Given the description of an element on the screen output the (x, y) to click on. 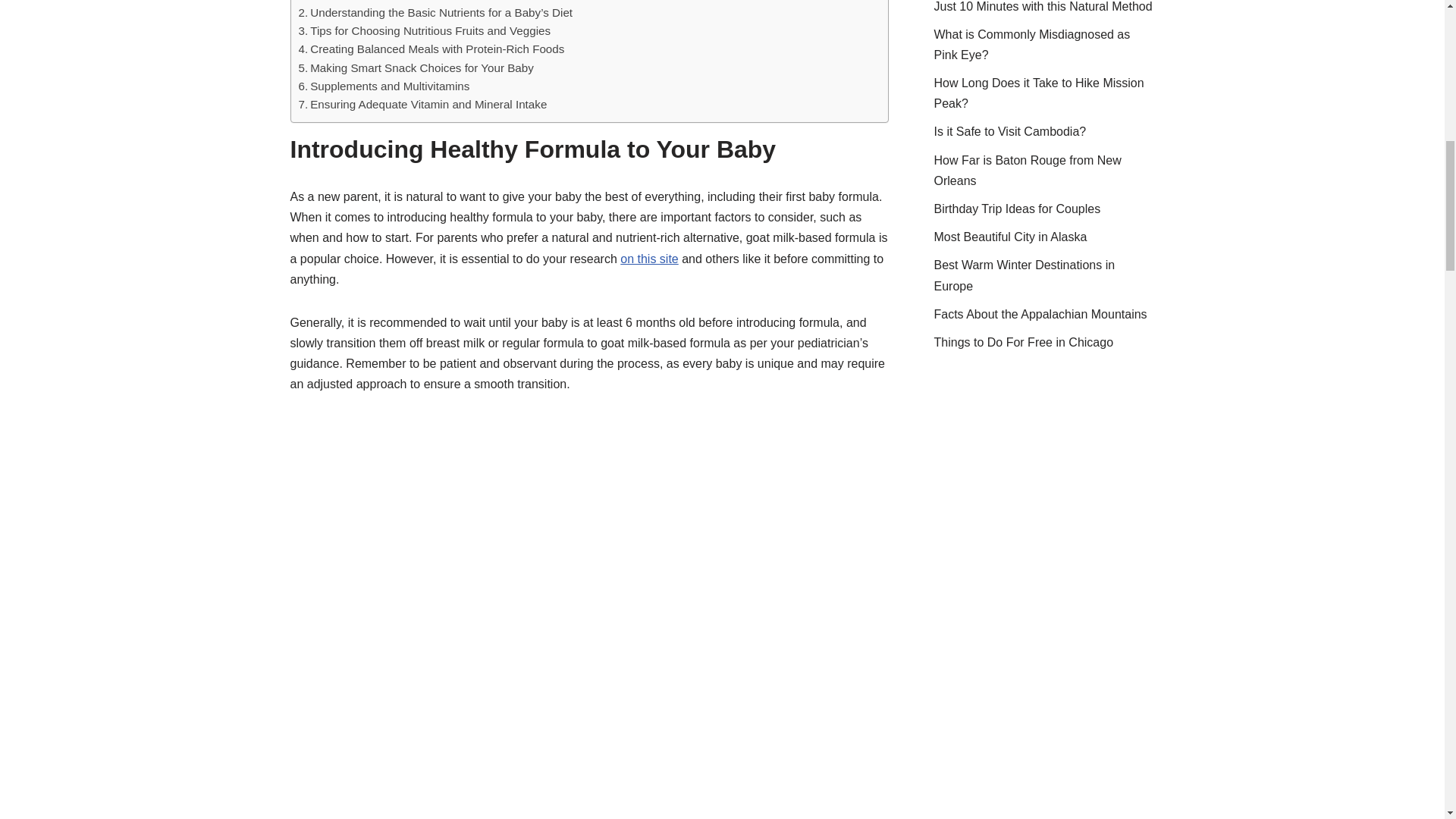
Introducing Healthy Formula to Your Baby (411, 1)
Tips for Choosing Nutritious Fruits and Veggies (424, 31)
Ensuring Adequate Vitamin and Mineral Intake (422, 104)
Supplements and Multivitamins (384, 85)
Supplements and Multivitamins (384, 85)
Creating Balanced Meals with Protein-Rich Foods (431, 49)
Introducing Healthy Formula to Your Baby (411, 1)
Making Smart Snack Choices for Your Baby (416, 67)
Making Smart Snack Choices for Your Baby (416, 67)
Creating Balanced Meals with Protein-Rich Foods (431, 49)
Ensuring Adequate Vitamin and Mineral Intake (422, 104)
Tips for Choosing Nutritious Fruits and Veggies (424, 31)
on this site (649, 258)
